Given the description of an element on the screen output the (x, y) to click on. 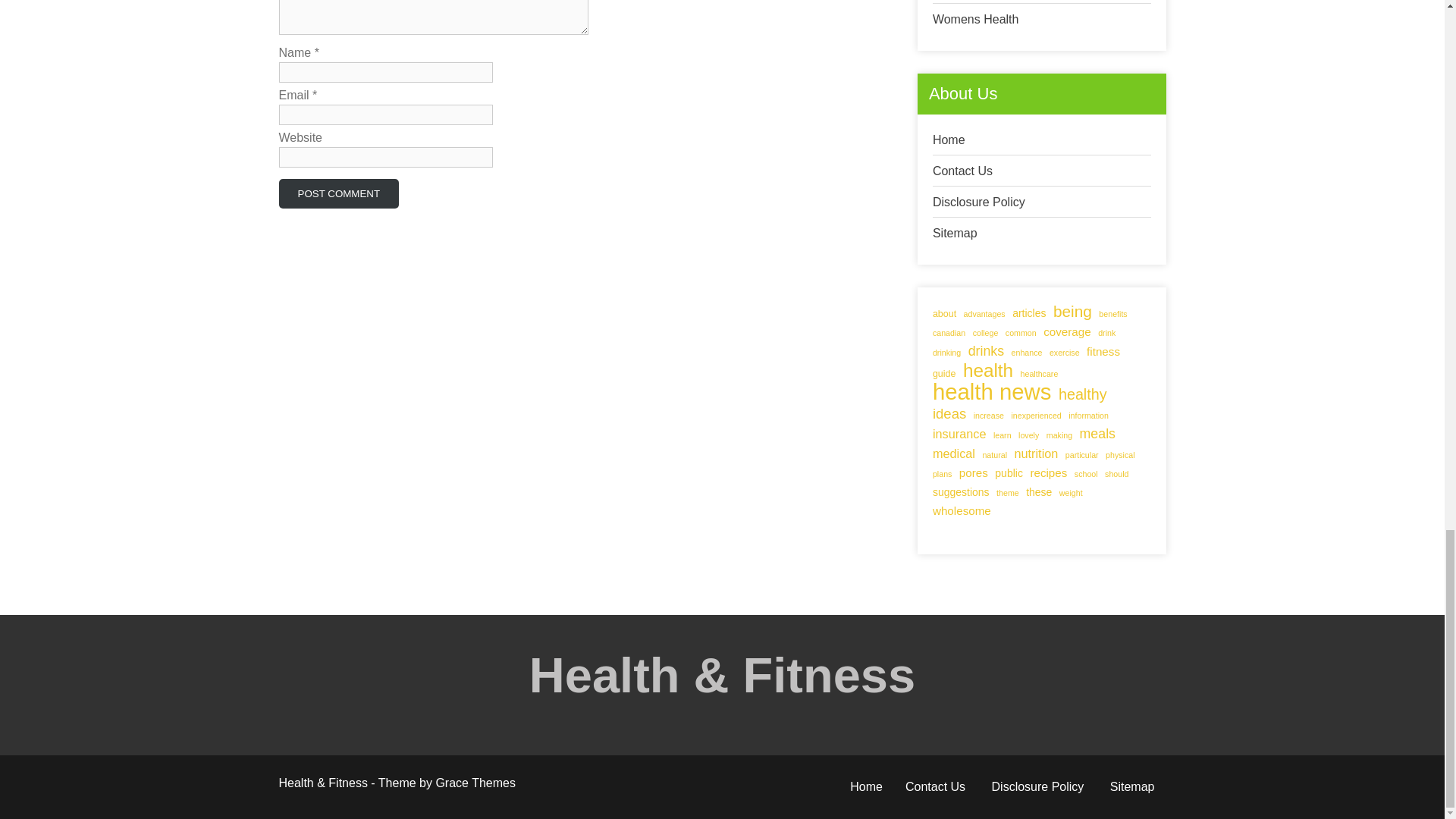
Post Comment (338, 193)
